Given the description of an element on the screen output the (x, y) to click on. 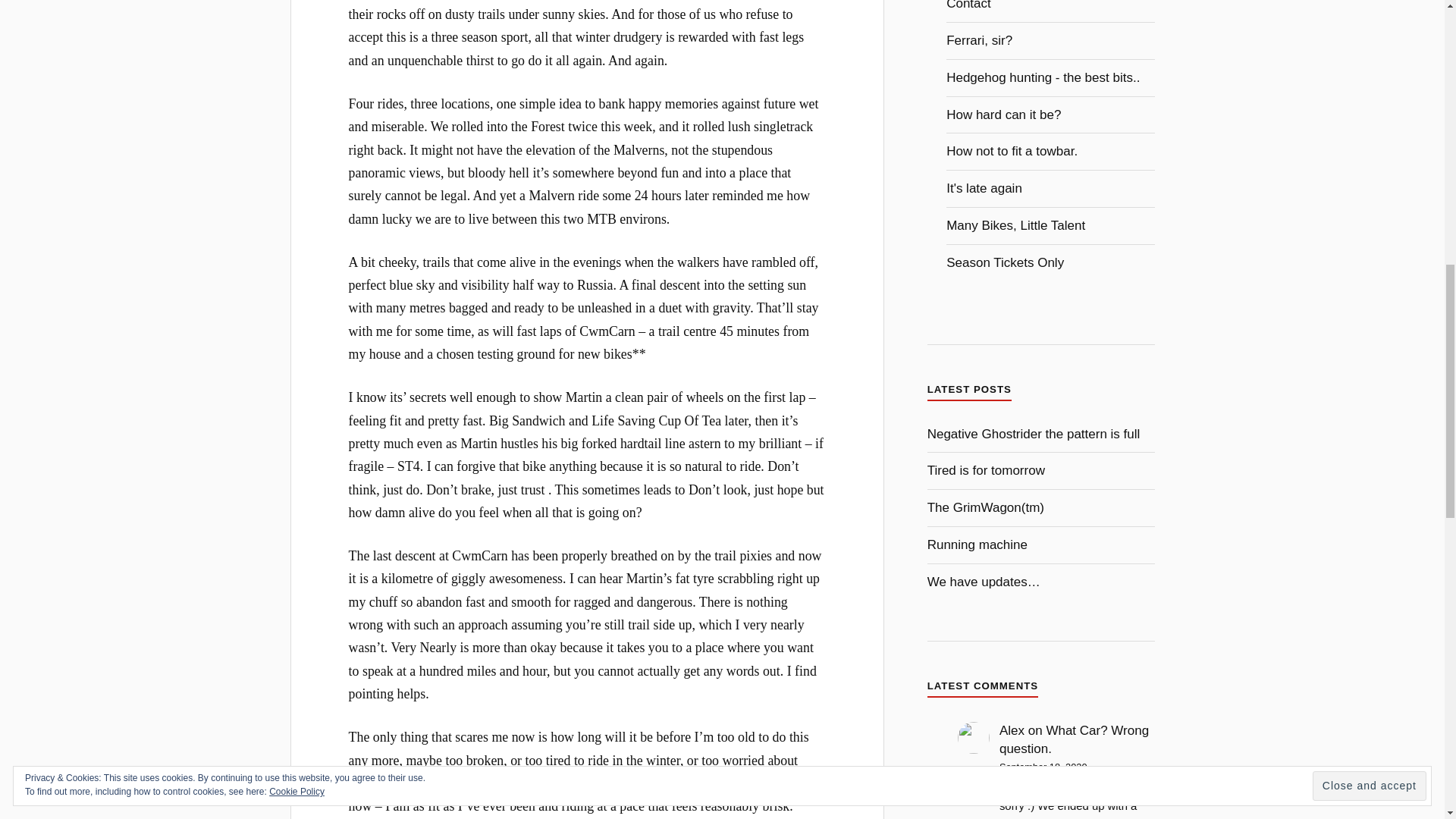
Negative Ghostrider the pattern is full (1033, 433)
Many Bikes, Little Talent (1015, 225)
How hard can it be? (1003, 114)
Hedgehog hunting - the best bits.. (1043, 77)
Contact (968, 5)
How not to fit a towbar. (1011, 151)
It's late again (984, 187)
Running machine (977, 544)
Tired is for tomorrow (986, 470)
Ferrari, sir? (978, 40)
Alex (1011, 730)
Season Tickets Only (1005, 262)
